Given the description of an element on the screen output the (x, y) to click on. 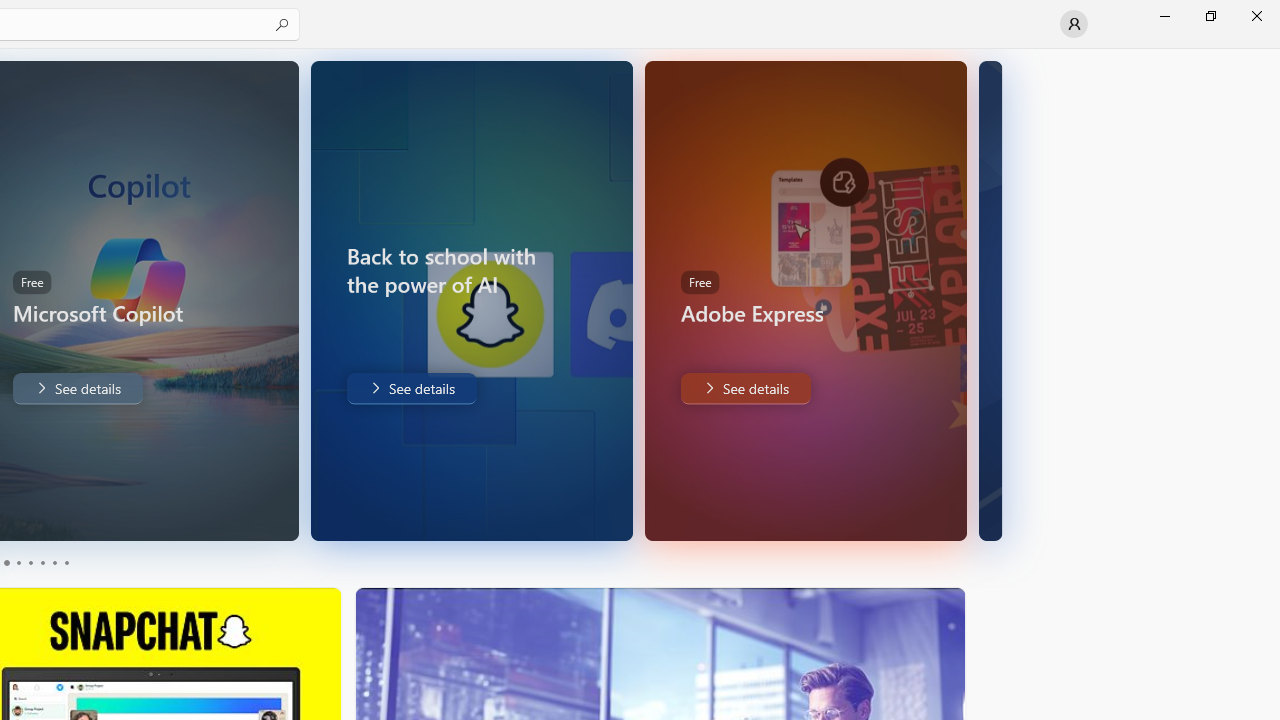
Restore Microsoft Store (1210, 15)
Page 3 (29, 562)
Page 5 (54, 562)
Minimize Microsoft Store (1164, 15)
Page 2 (17, 562)
Page 4 (41, 562)
Close Microsoft Store (1256, 15)
Page 6 (65, 562)
User profile (1073, 24)
AutomationID: Image (989, 300)
Pager (35, 562)
Page 1 (5, 562)
